Given the description of an element on the screen output the (x, y) to click on. 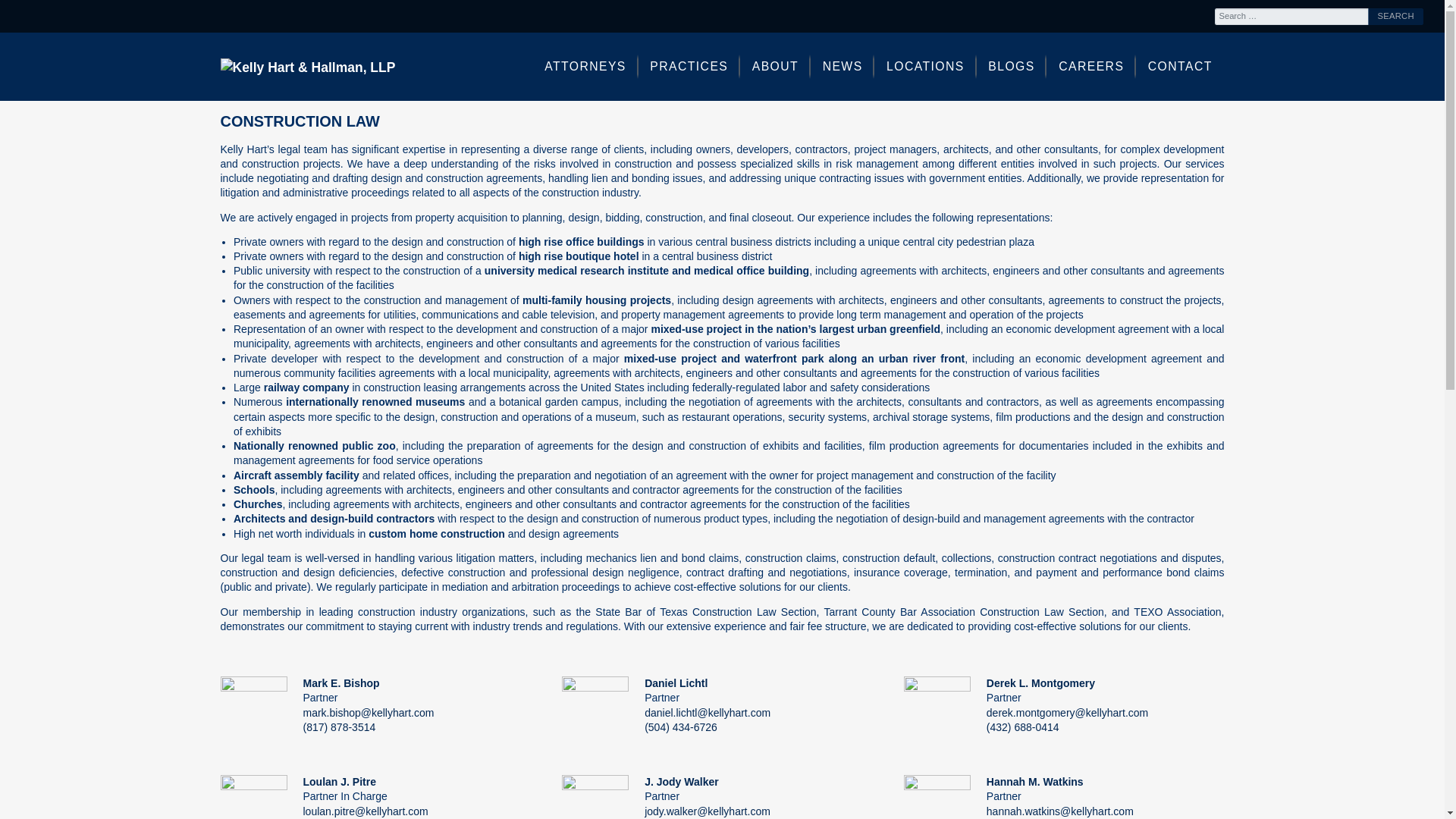
J. Jody Walker (682, 781)
CONTACT (1179, 66)
Derek L. Montgomery (1040, 683)
ABOUT (774, 66)
Loulan J. Pitre (338, 781)
PRACTICES (689, 66)
Locations (925, 66)
Blogs (1011, 66)
LOCATIONS (925, 66)
ATTORNEYS (584, 66)
Attorneys (584, 66)
BLOGS (1011, 66)
News (842, 66)
NEWS (842, 66)
Search (1395, 15)
